Given the description of an element on the screen output the (x, y) to click on. 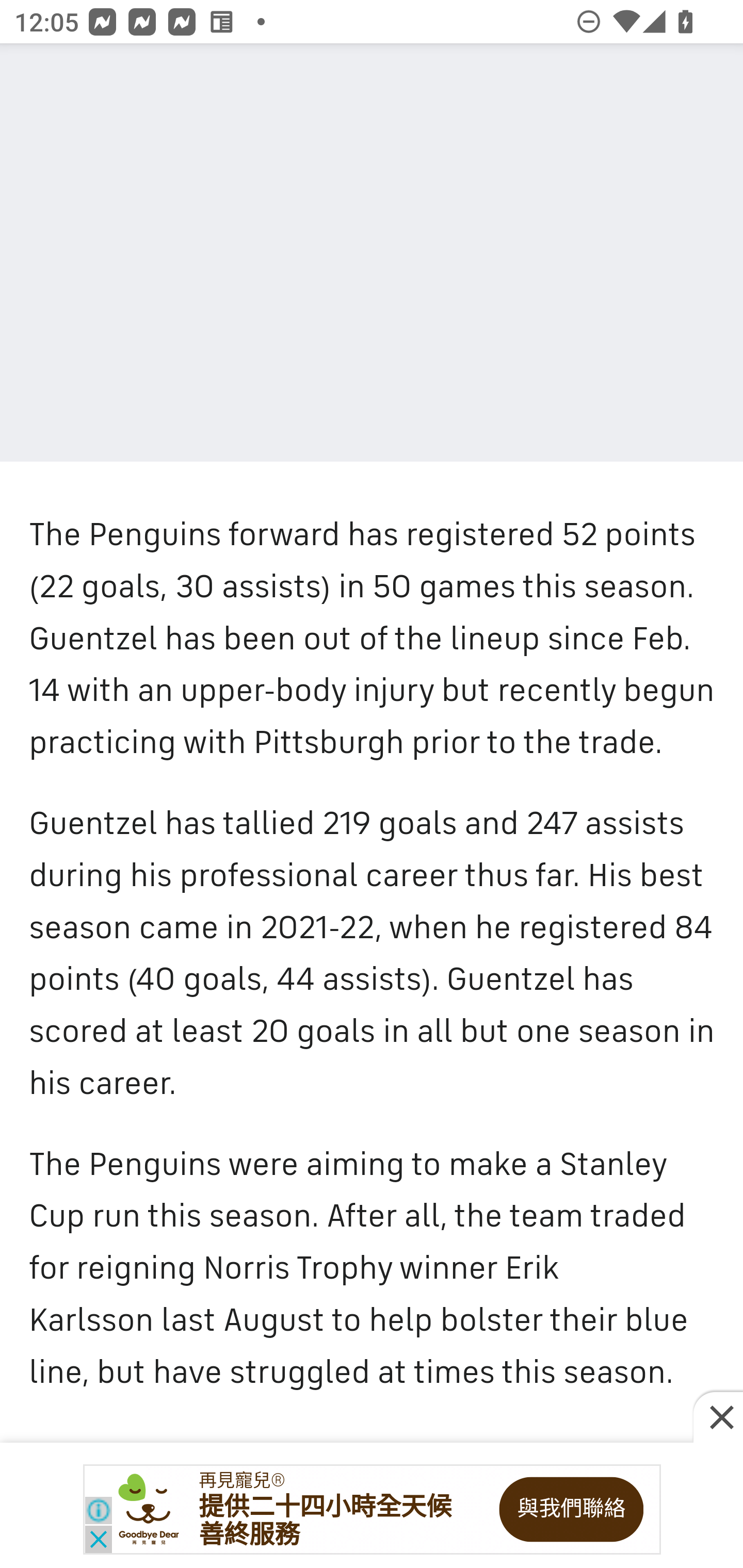
Close this ad (718, 1418)
